Given the description of an element on the screen output the (x, y) to click on. 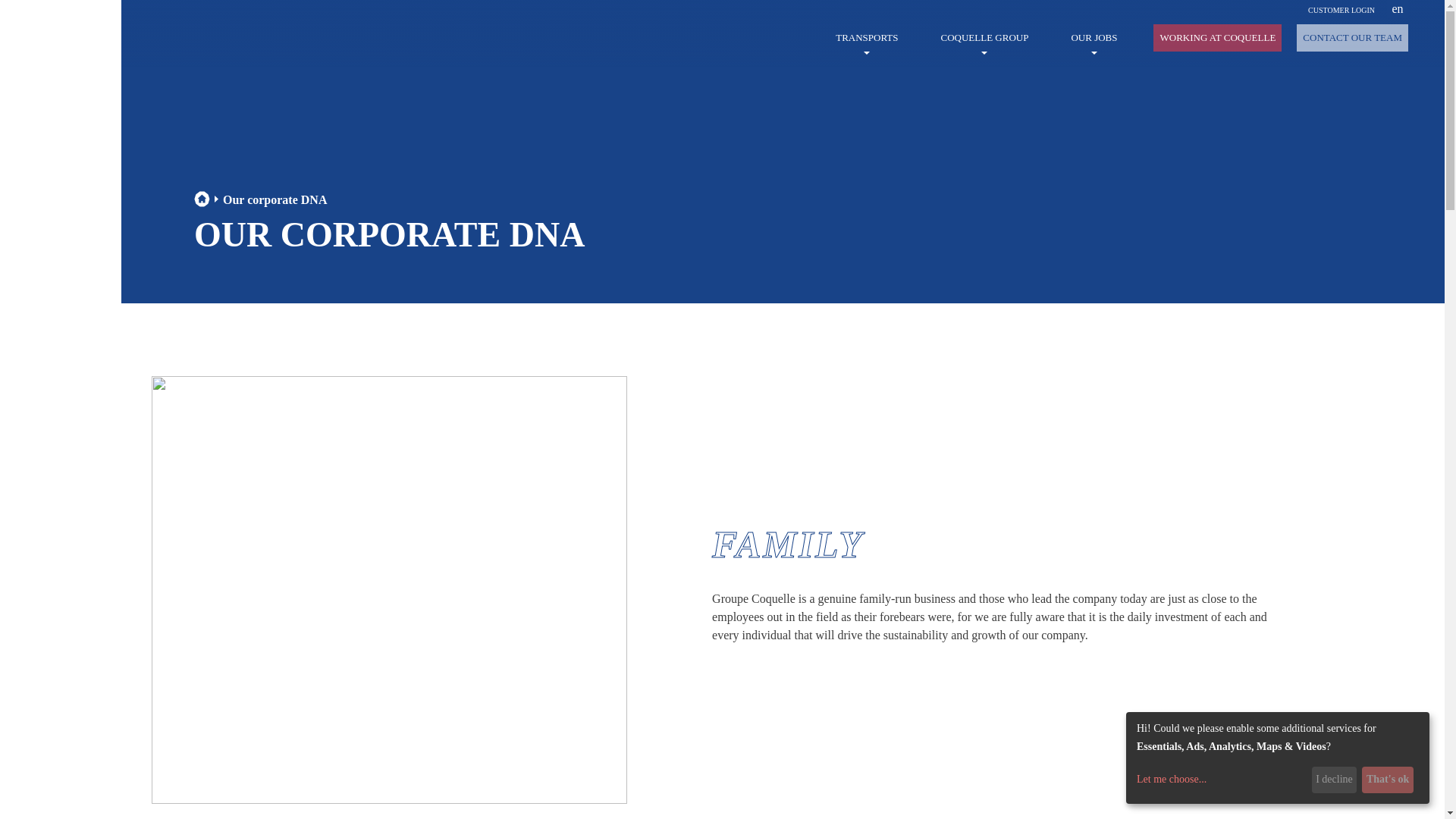
CUSTOMER LOGIN (1340, 9)
WORKING AT COQUELLE (1217, 37)
CONTACT OUR TEAM (1352, 37)
